Given the description of an element on the screen output the (x, y) to click on. 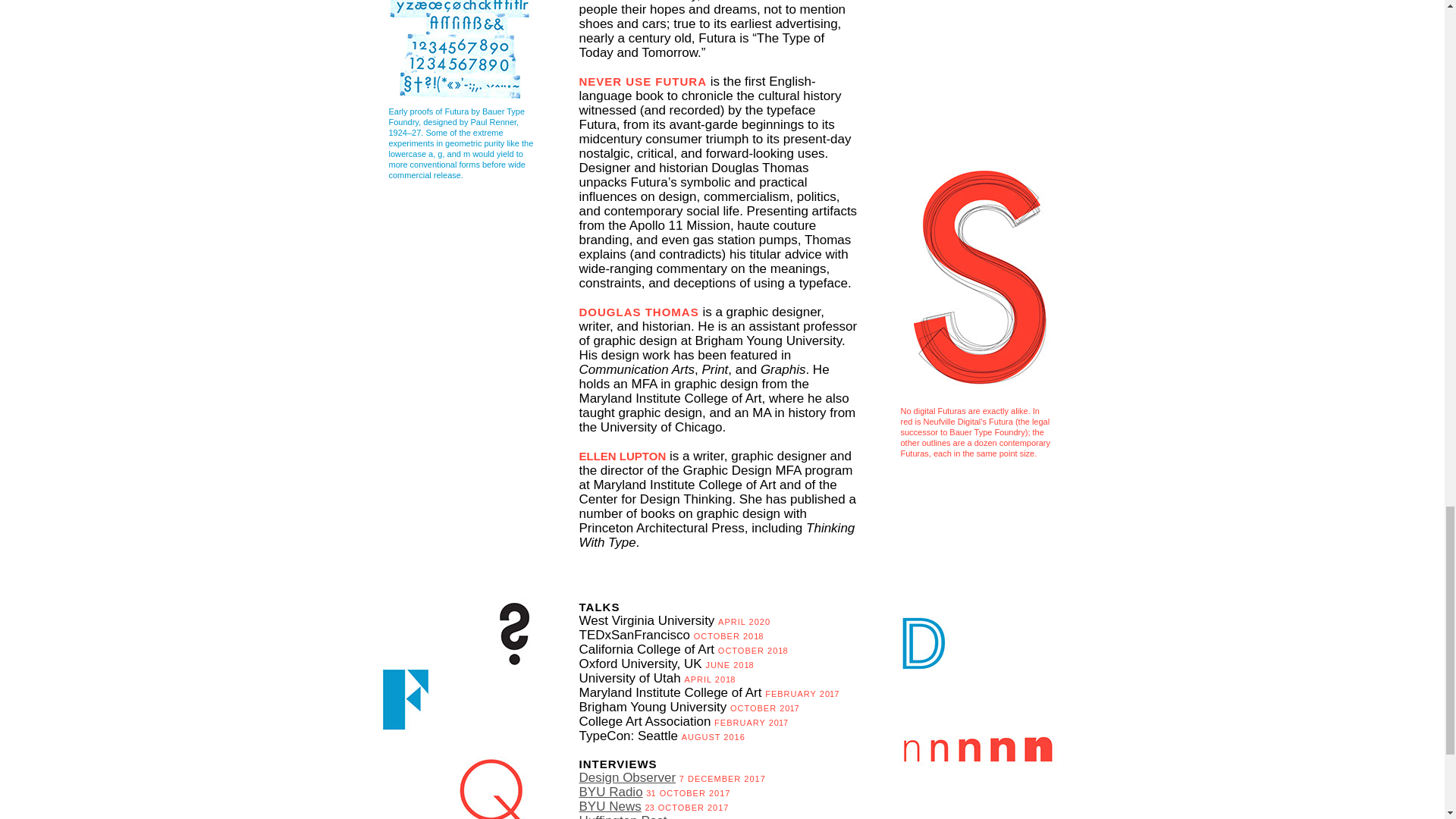
BYU Radio (611, 791)
Design Observer (628, 777)
Huffington Post (622, 816)
BYU News (610, 806)
